Given the description of an element on the screen output the (x, y) to click on. 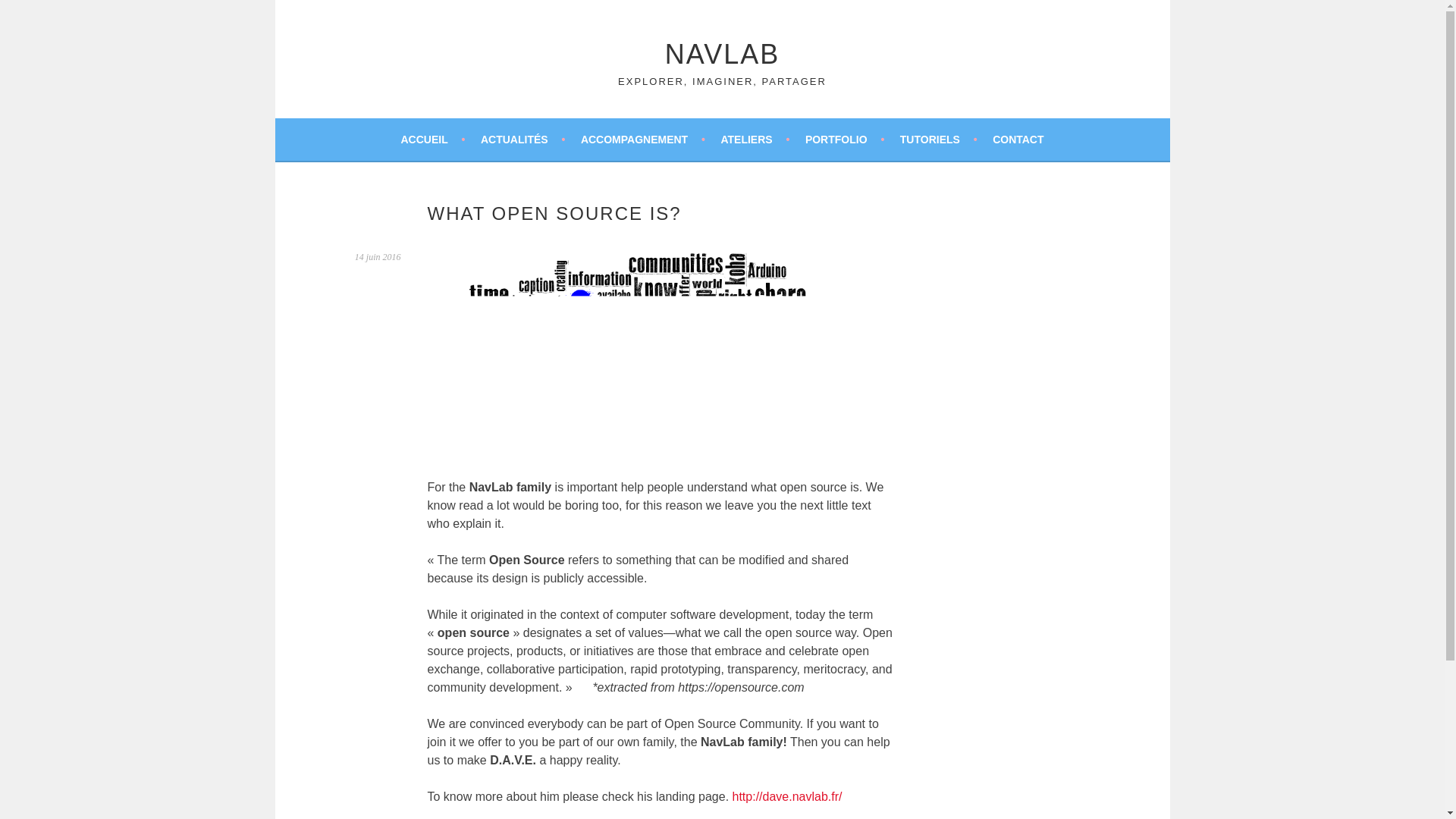
14 juin 2016 (378, 256)
ACCOMPAGNEMENT (642, 139)
ACCUEIL (432, 139)
PORTFOLIO (844, 139)
NAVLAB (721, 53)
NAVLAB (721, 53)
TUTORIELS (937, 139)
ATELIERS (754, 139)
Permalien vers What Open Source is? (378, 256)
CONTACT (1017, 139)
